Given the description of an element on the screen output the (x, y) to click on. 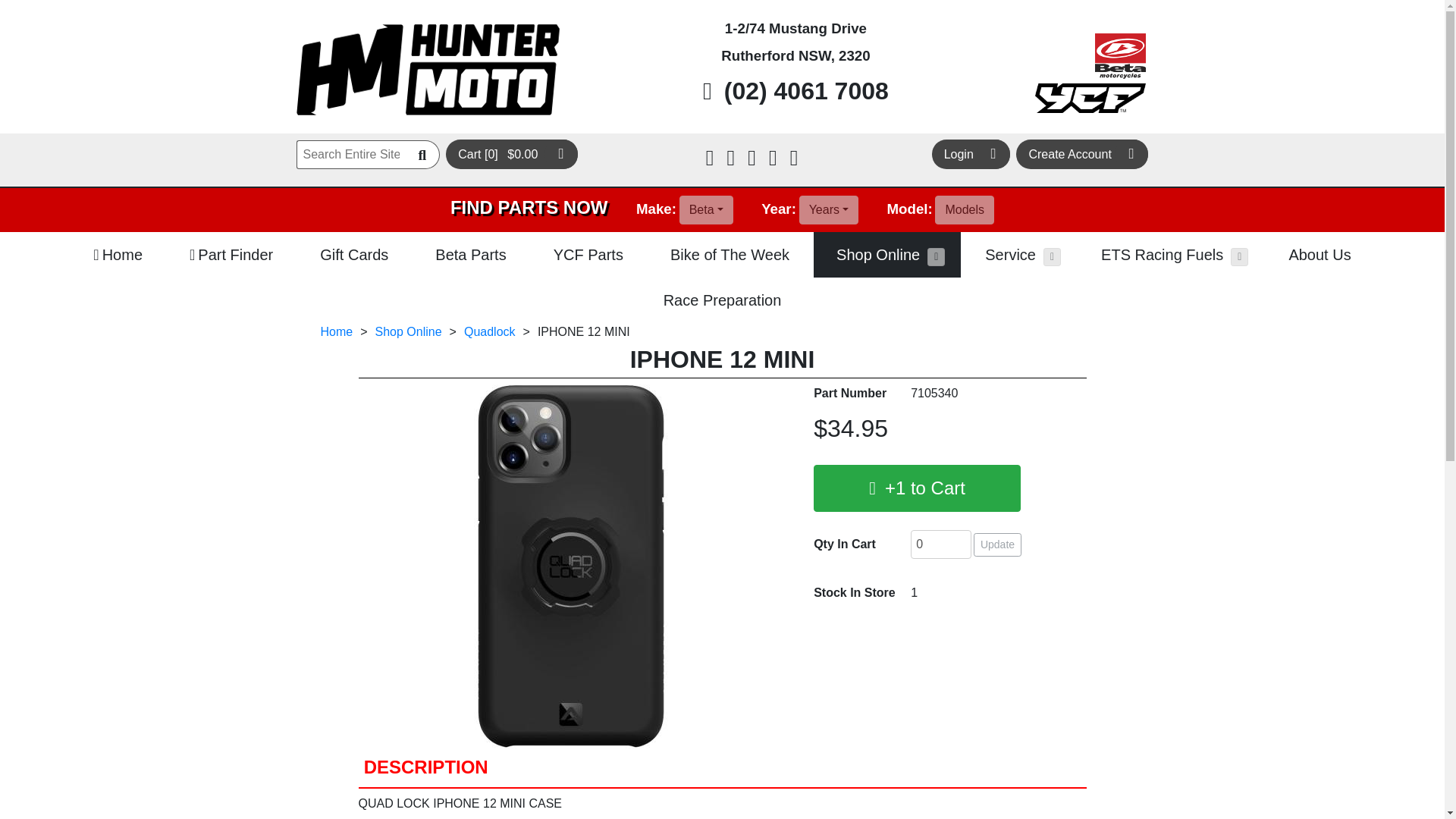
0 (941, 543)
Login (970, 153)
FIND PARTS NOW (528, 207)
Cart 0 0.00 (511, 153)
Beta Parts (470, 254)
Gift Cards (353, 254)
YCF Parts (588, 254)
Bike of The Week (729, 254)
Create Account (1082, 153)
Beta (706, 209)
Home (117, 254)
Models (964, 209)
Part Finder (231, 254)
Years (829, 209)
